Given the description of an element on the screen output the (x, y) to click on. 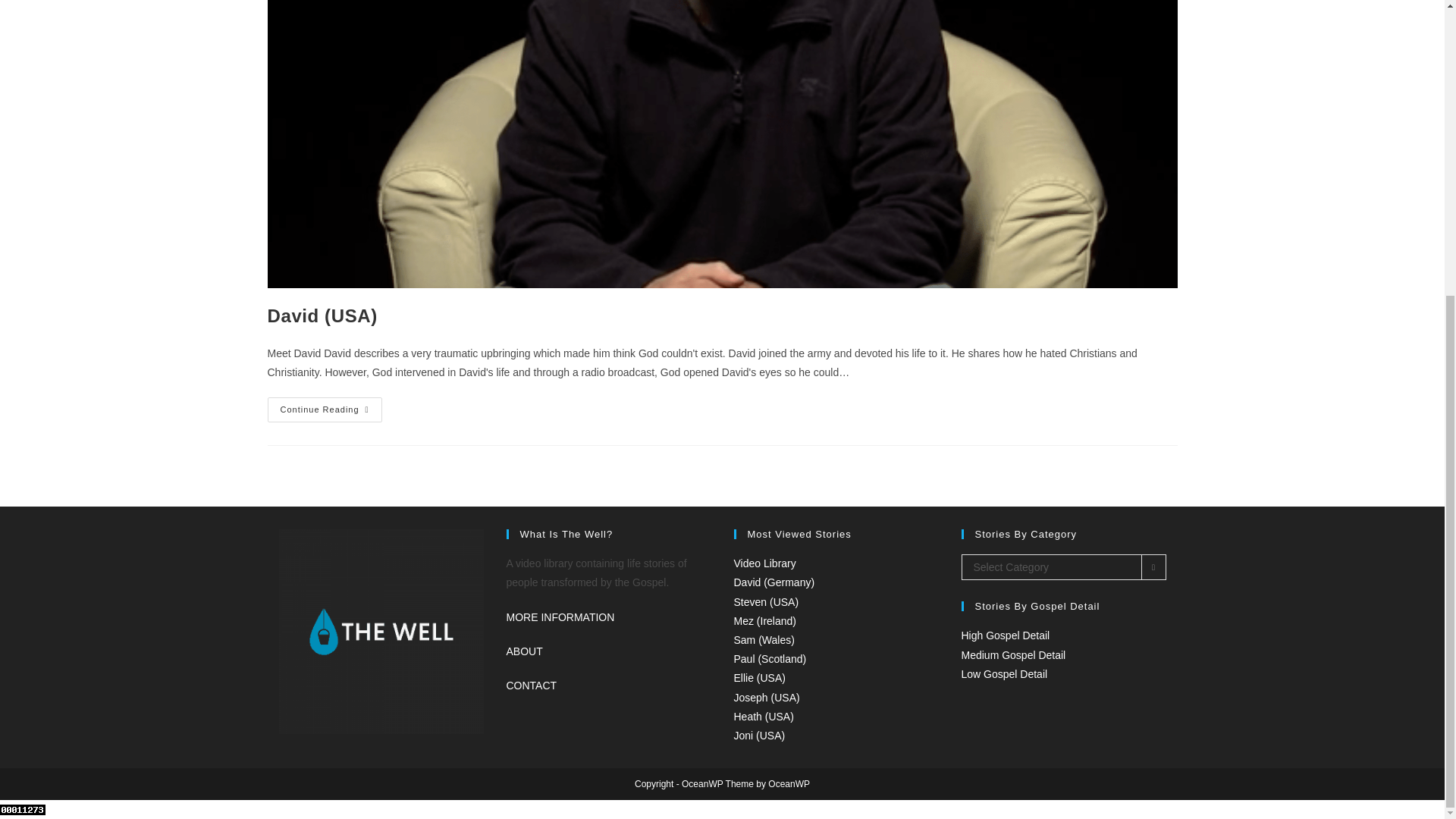
CONTACT (531, 685)
MORE INFORMATION (560, 616)
Video Library (764, 563)
High Gospel Detail (1004, 635)
Low Gospel Detail (1004, 674)
Medium Gospel Detail (1012, 654)
ABOUT (524, 651)
